Given the description of an element on the screen output the (x, y) to click on. 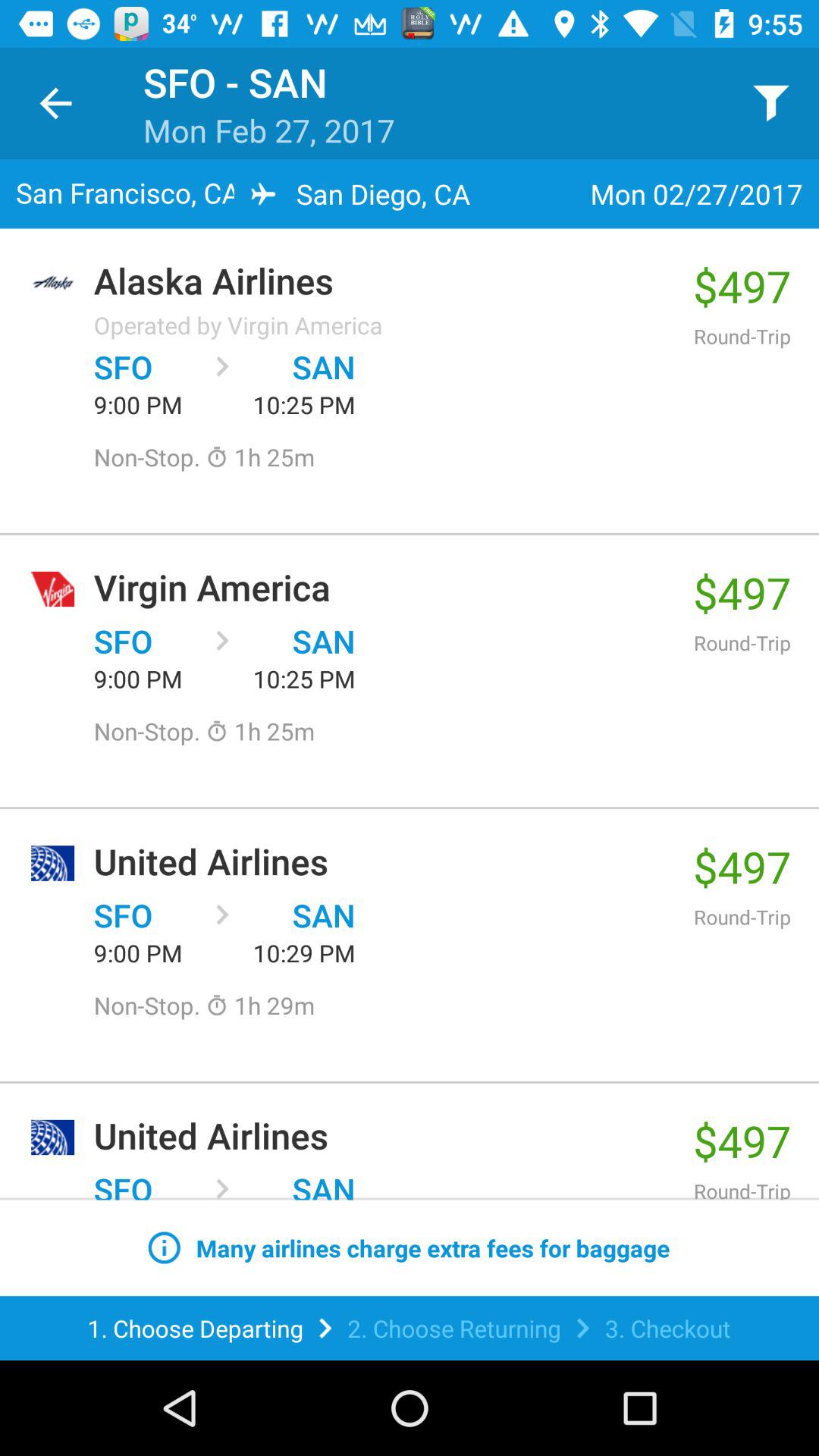
click item below alaska airlines item (237, 324)
